Given the description of an element on the screen output the (x, y) to click on. 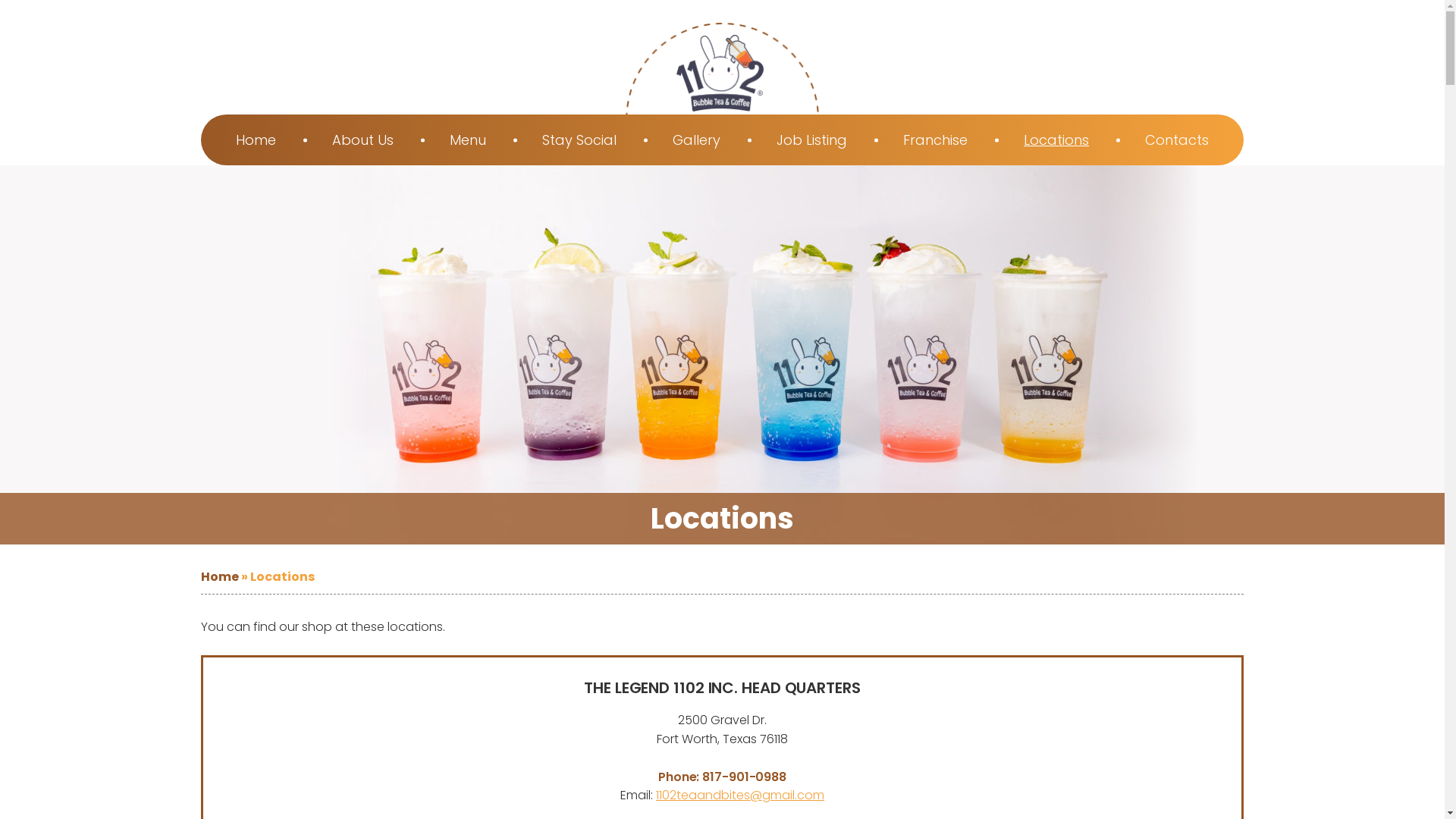
Locations Element type: text (1055, 139)
Contacts Element type: text (1176, 139)
Stay Social Element type: text (579, 139)
Franchise Element type: text (935, 139)
1102teaandbites@gmail.com Element type: text (739, 794)
Home Element type: text (219, 576)
Menu Element type: text (467, 139)
About Us Element type: text (362, 139)
Job Listing Element type: text (811, 139)
Home Element type: text (255, 139)
Gallery Element type: text (696, 139)
